Given the description of an element on the screen output the (x, y) to click on. 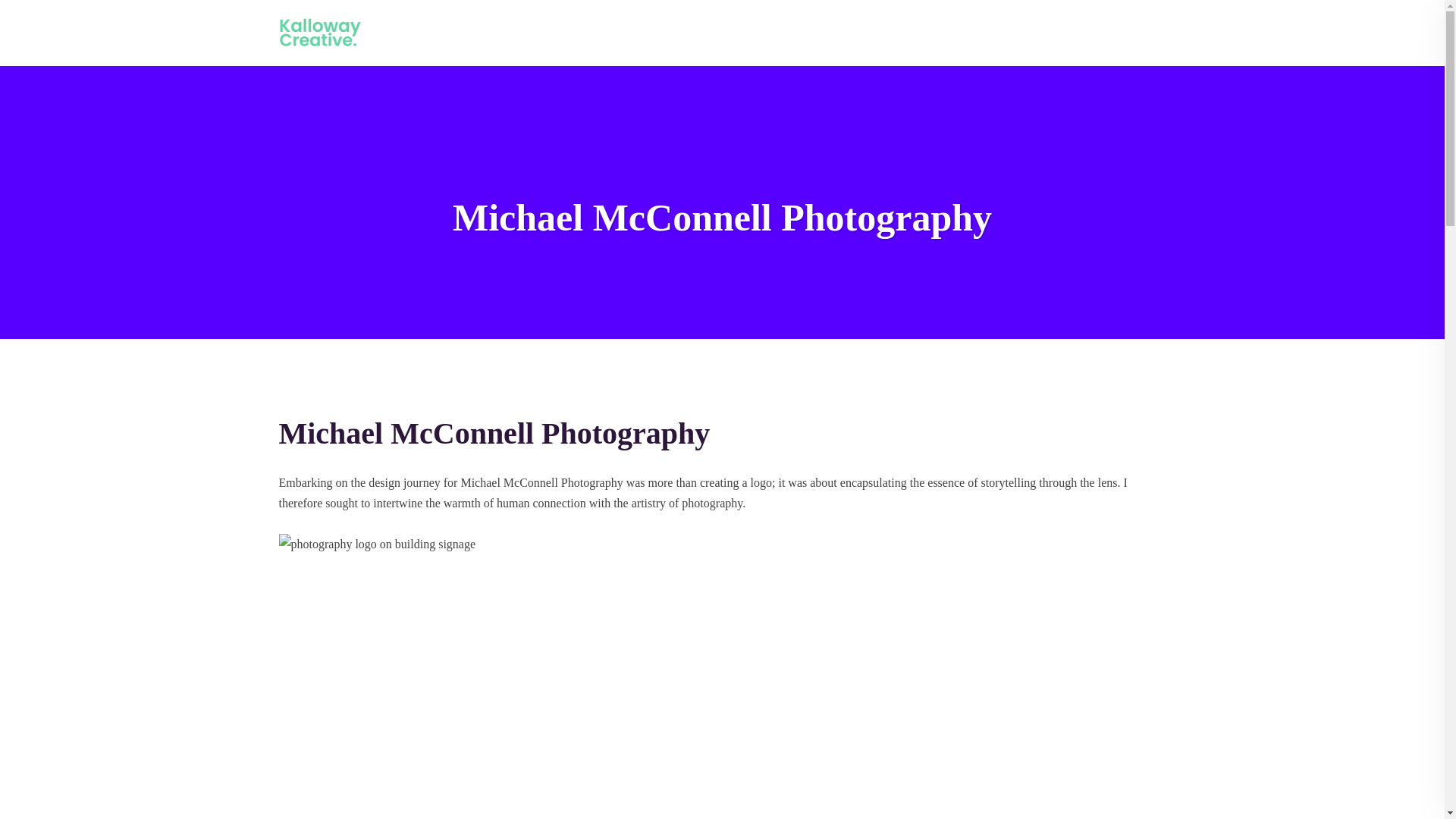
About (947, 32)
Services (998, 32)
Home (901, 32)
Portfolio (1063, 32)
Contact (1120, 32)
